Given the description of an element on the screen output the (x, y) to click on. 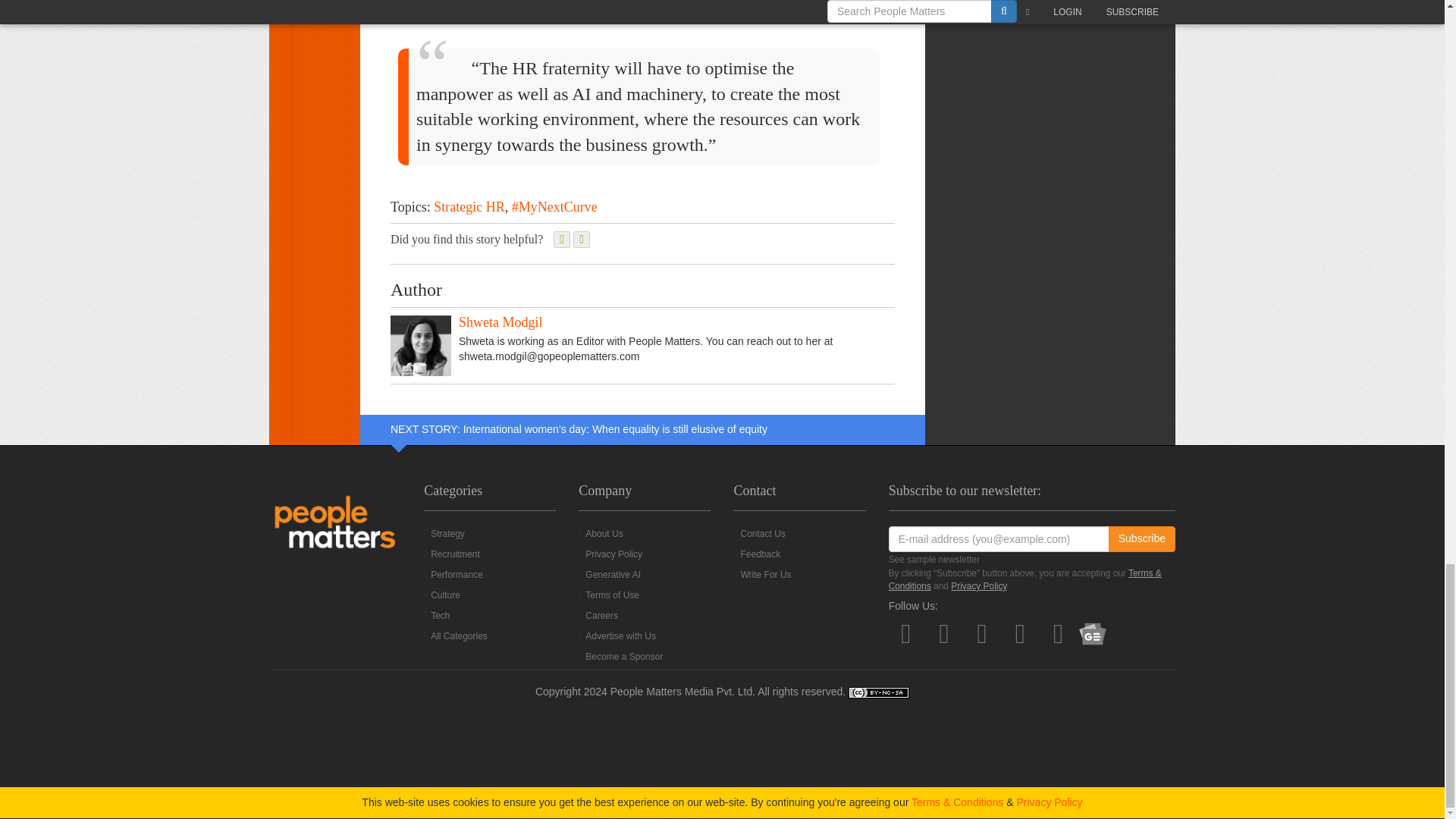
Browse more in: Strategic HR (468, 206)
Browse more in: MyNextCurve (554, 206)
Strategic HR (468, 206)
